Given the description of an element on the screen output the (x, y) to click on. 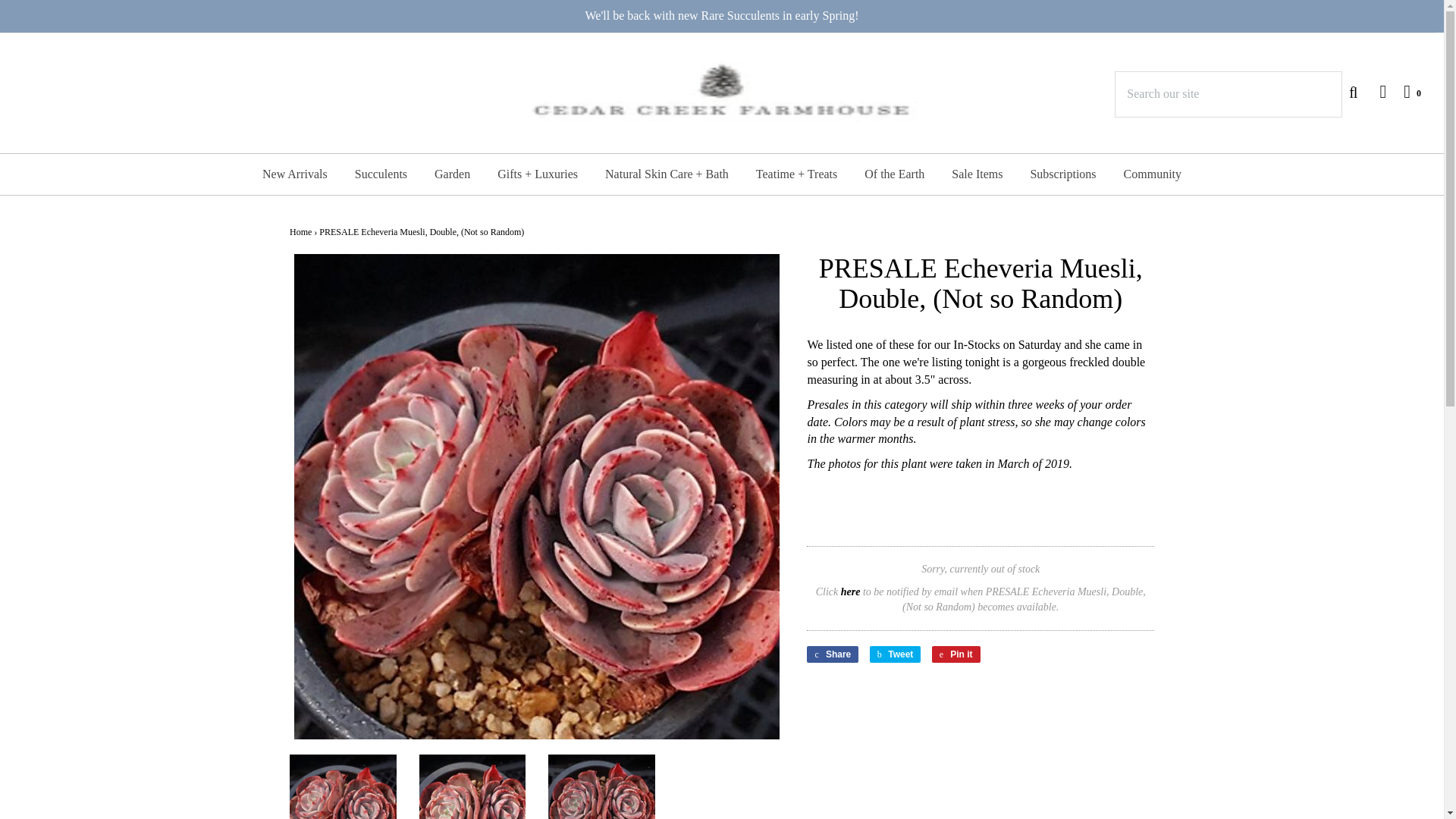
Succulents (381, 174)
Search our site (1228, 94)
Back to the frontpage (300, 231)
Log in (1375, 91)
We'll be back with new Rare Succulents in early Spring! (722, 16)
Your Cart (1405, 91)
New Arrivals (294, 174)
Garden (452, 174)
0 (1405, 91)
